Given the description of an element on the screen output the (x, y) to click on. 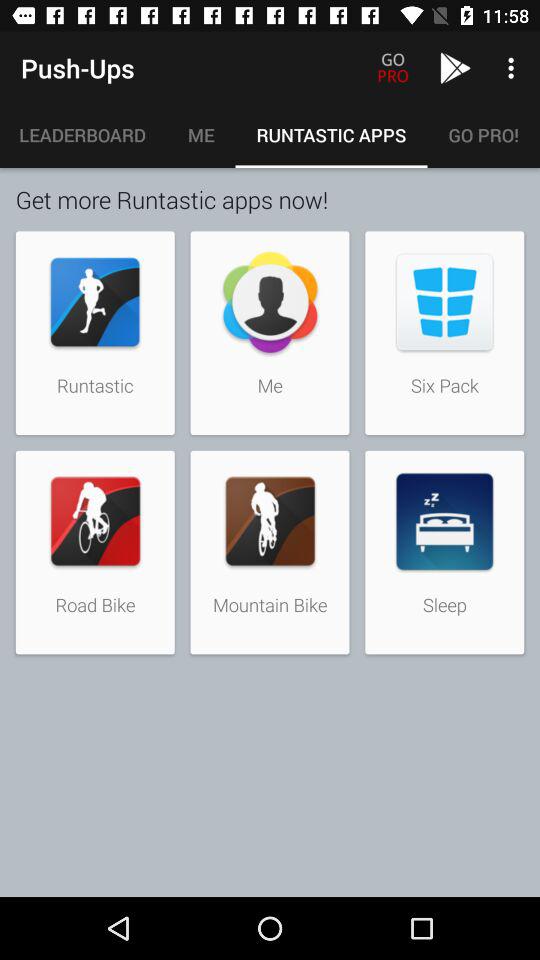
select the leaderboard item (83, 135)
